Given the description of an element on the screen output the (x, y) to click on. 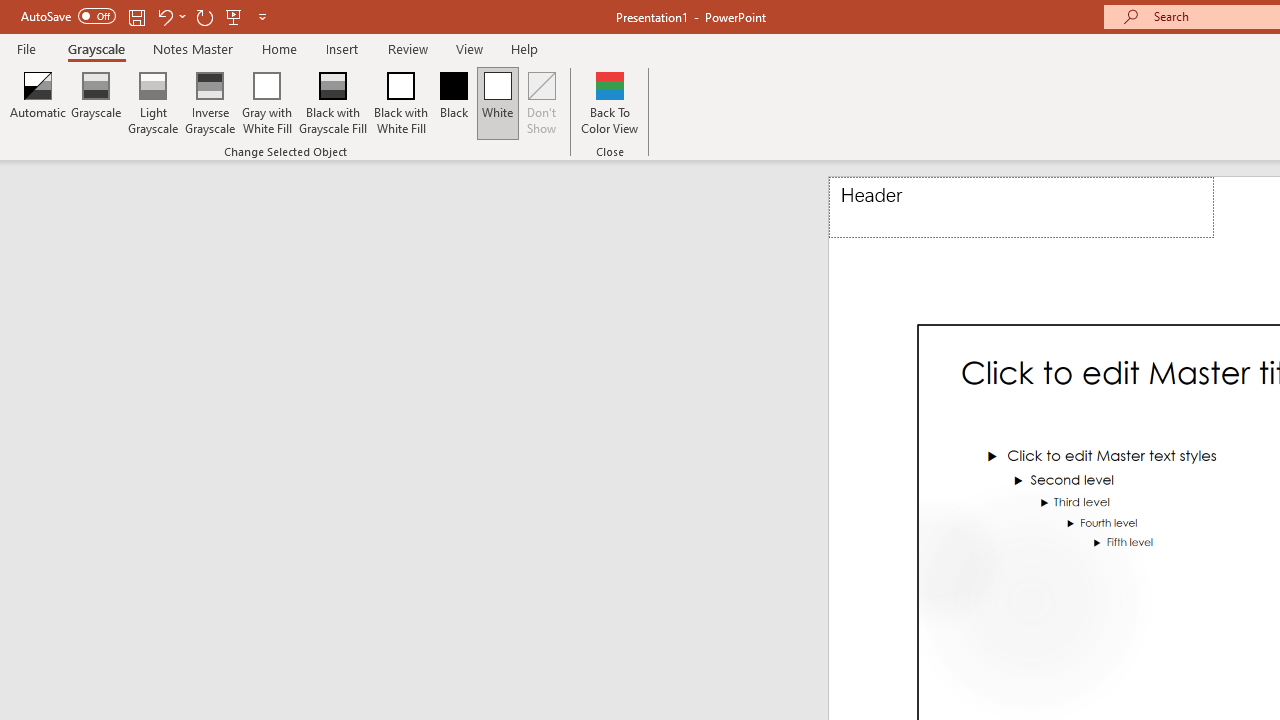
Gray with White Fill (267, 102)
Don't Show (541, 102)
White (497, 102)
Notes Master (193, 48)
Inverse Grayscale (210, 102)
